Given the description of an element on the screen output the (x, y) to click on. 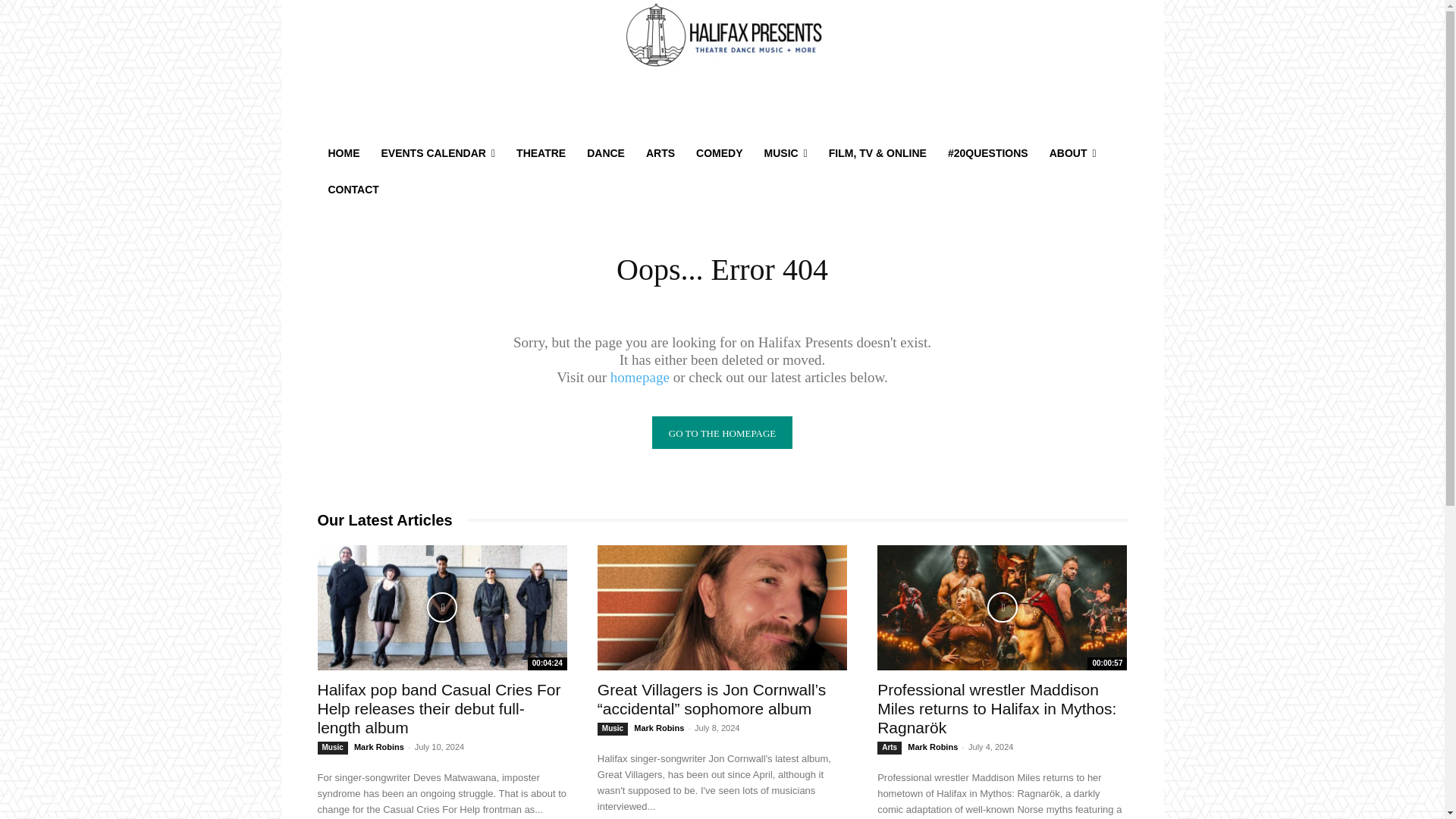
HOME (343, 153)
EVENTS CALENDAR (437, 153)
DANCE (605, 153)
THEATRE (540, 153)
Go to the homepage (722, 432)
